Given the description of an element on the screen output the (x, y) to click on. 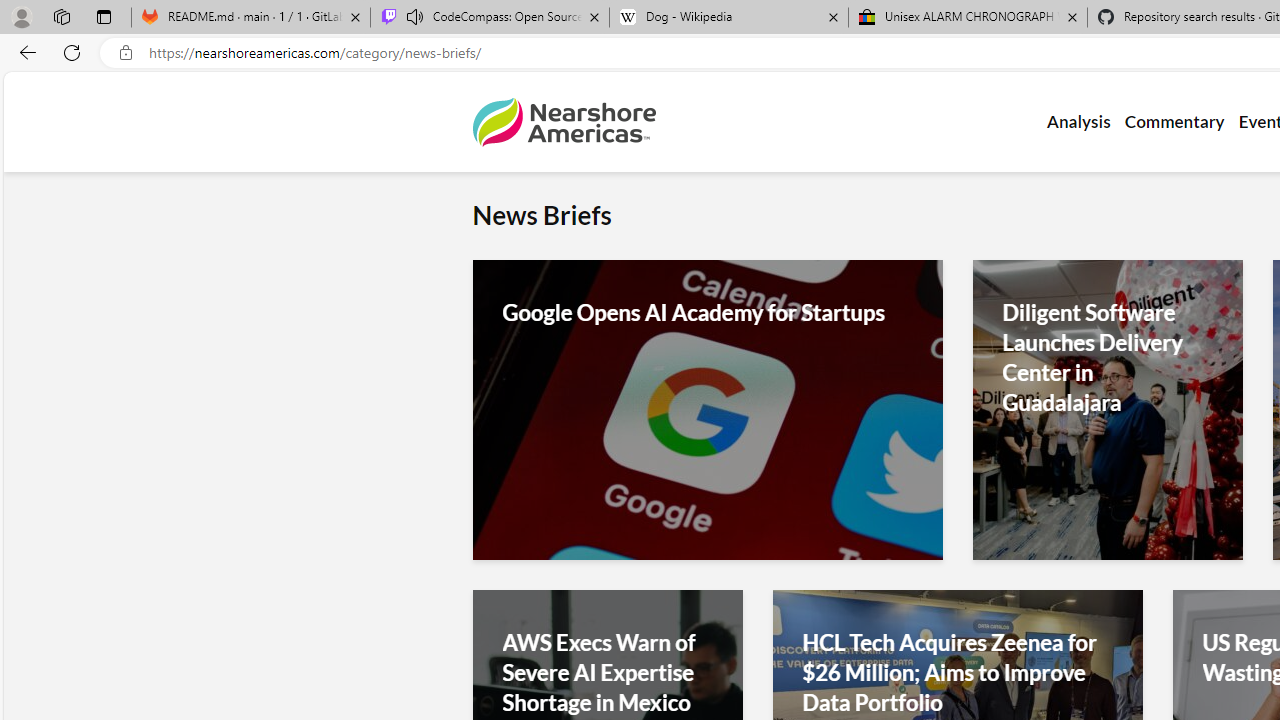
Nearshore Americas (563, 121)
Google Opens AI Academy for Startups (706, 313)
Mute tab (414, 16)
AWS Execs Warn of Severe AI Expertise Shortage in Mexico (606, 672)
Commentary (1174, 121)
Nearshore Americas (563, 121)
Analysis (1078, 121)
